Given the description of an element on the screen output the (x, y) to click on. 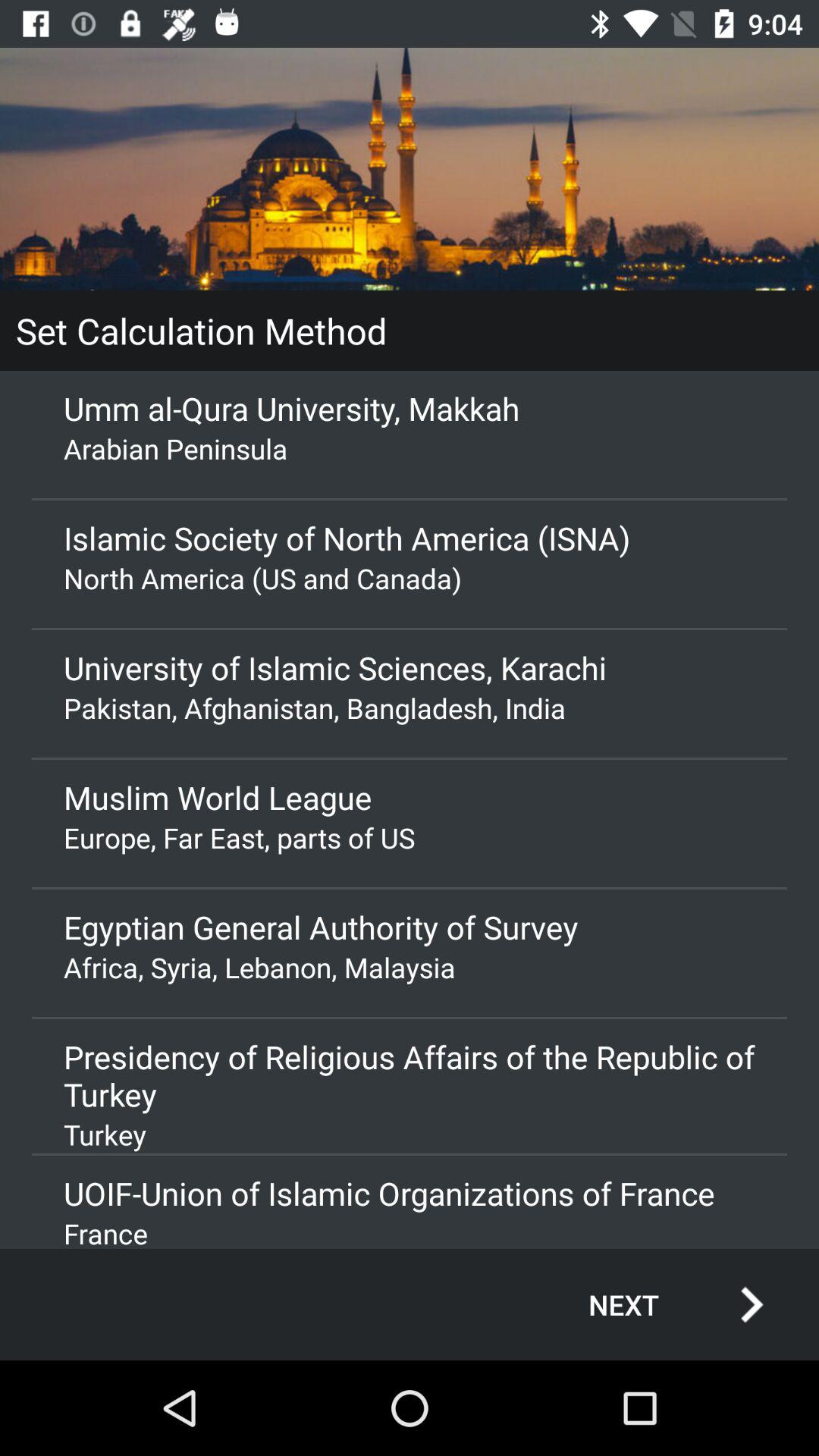
select icon below the turkey app (409, 1192)
